Given the description of an element on the screen output the (x, y) to click on. 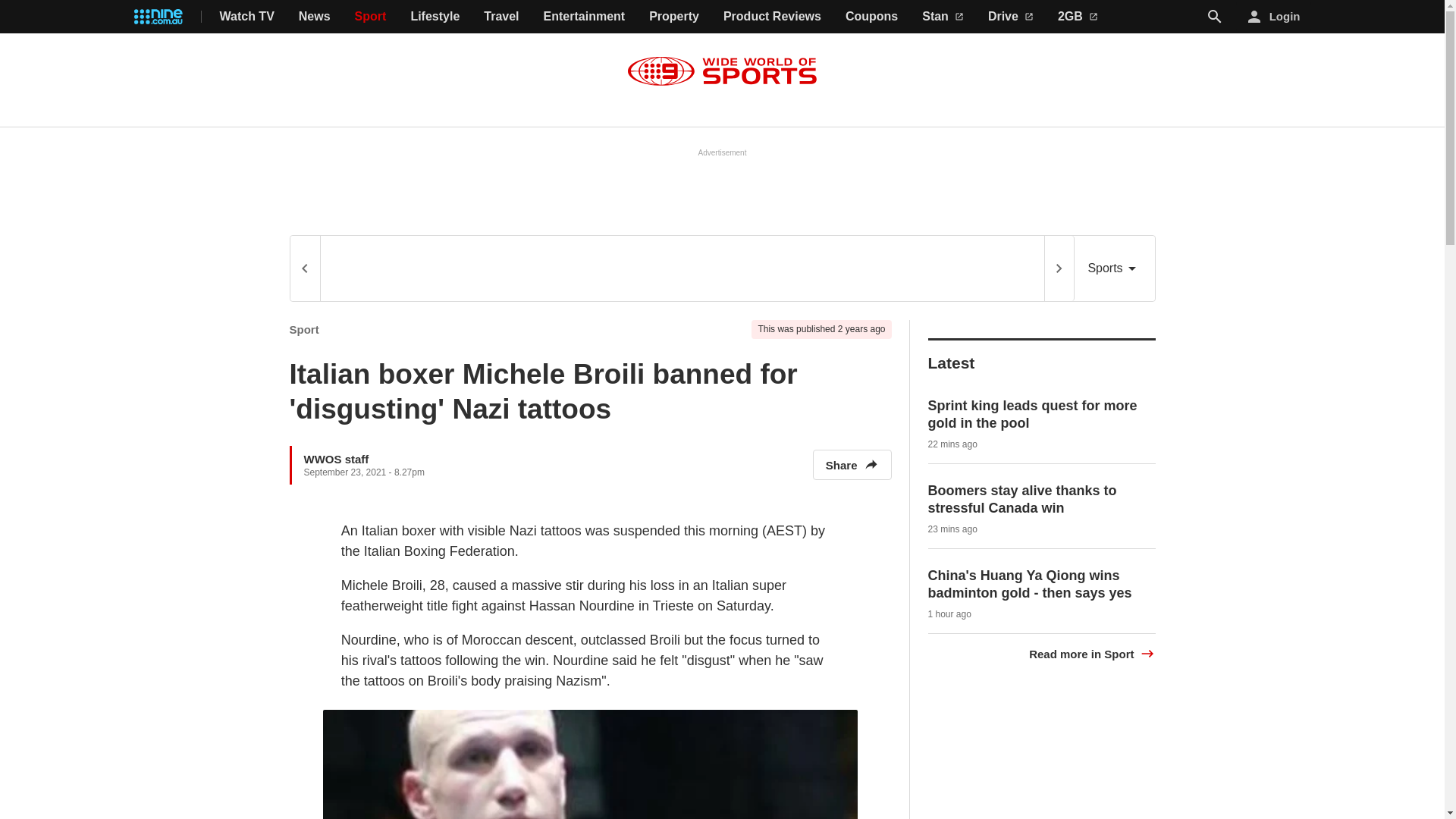
Read more in Sport (1091, 653)
Search (1214, 16)
Product Reviews (772, 16)
Property (673, 16)
Sports (1114, 268)
Login (1273, 16)
Share (851, 464)
Travel (500, 16)
Boomers stay alive thanks to stressful Canada win (1022, 499)
Stan (942, 16)
Sport (303, 328)
Sport (371, 16)
Watch TV (247, 16)
Drive (1010, 16)
Lifestyle (435, 16)
